Given the description of an element on the screen output the (x, y) to click on. 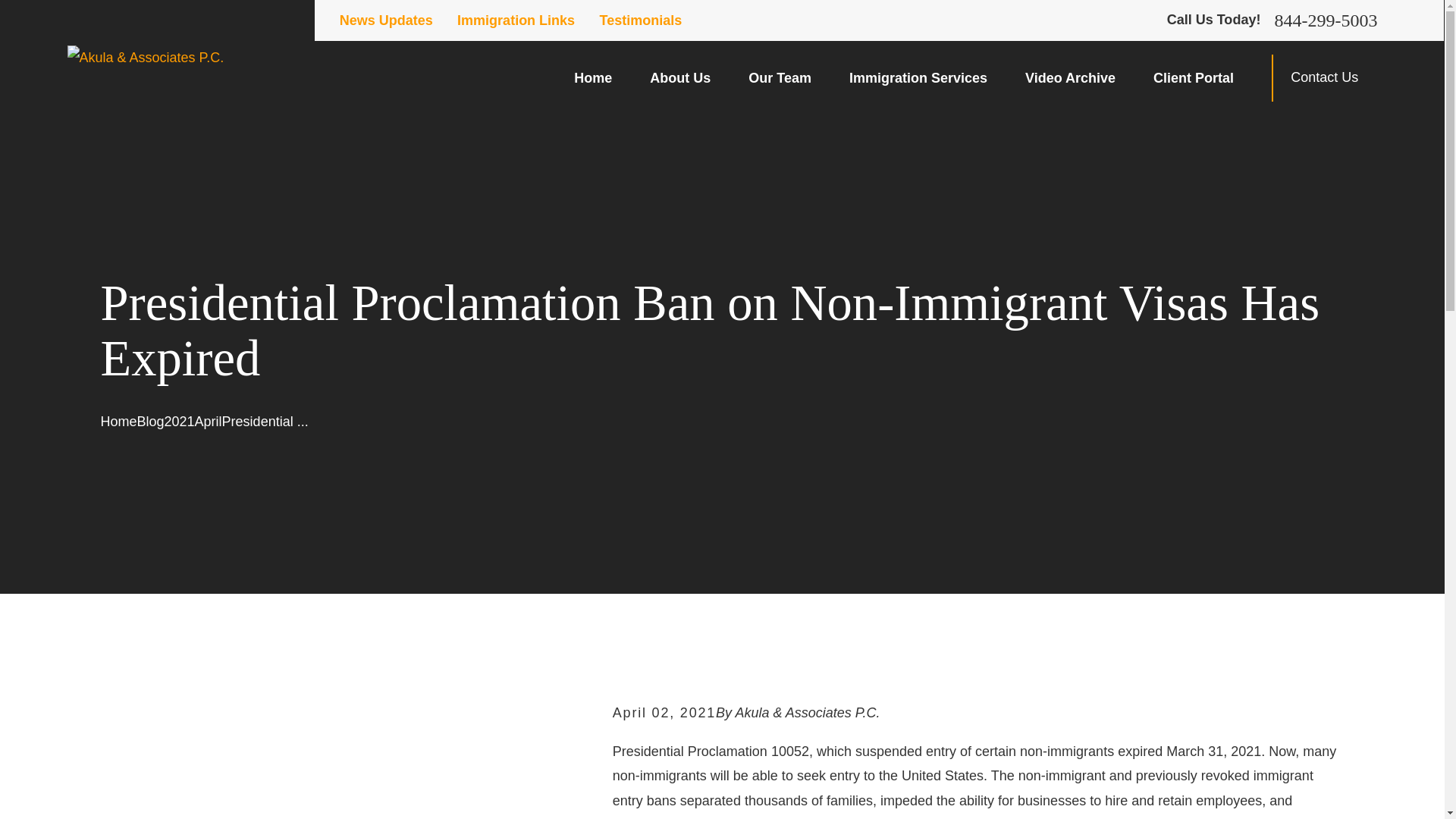
About Us (679, 78)
Home (145, 57)
844-299-5003 (1325, 20)
Immigration Services (917, 78)
Testimonials (640, 20)
News Updates (385, 20)
Our Team (779, 78)
Immigration Links (516, 20)
Home (592, 78)
Go Home (118, 421)
